Given the description of an element on the screen output the (x, y) to click on. 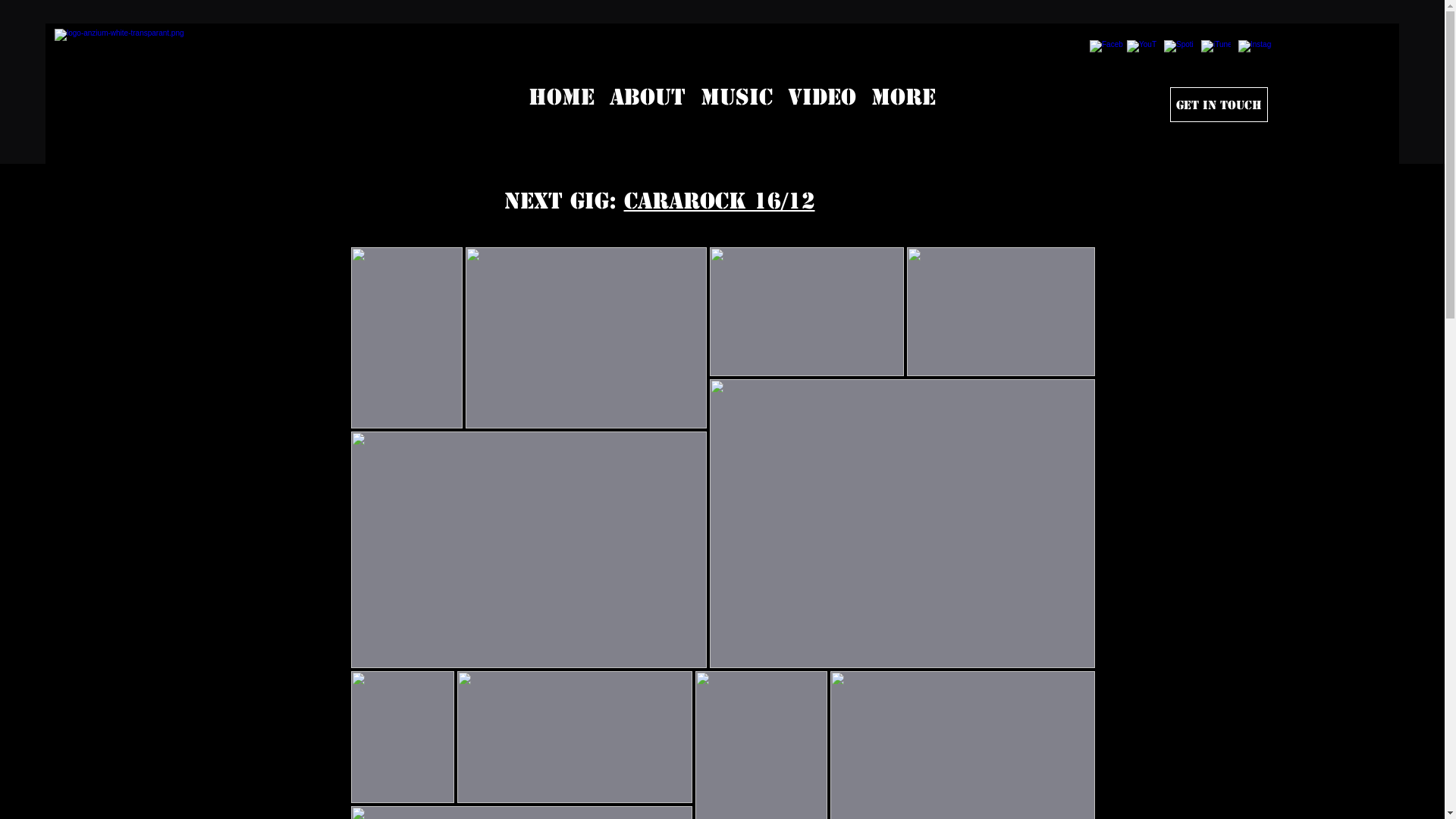
About Element type: text (647, 93)
Home Element type: text (560, 93)
Cararock 16/12 Element type: text (718, 200)
Music Element type: text (736, 93)
Video Element type: text (820, 93)
Get In Touch Element type: text (1218, 104)
